Given the description of an element on the screen output the (x, y) to click on. 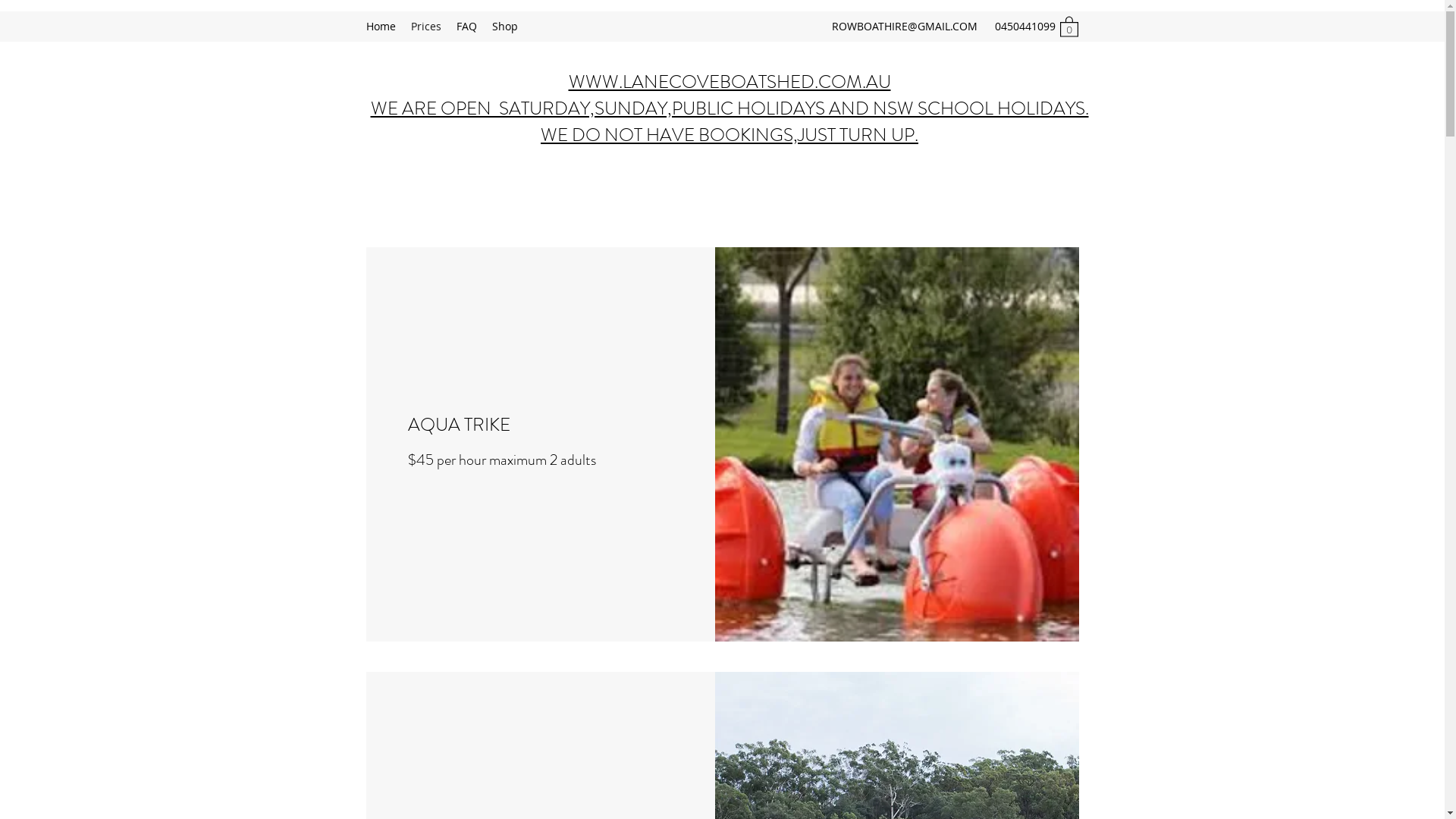
Shop Element type: text (503, 26)
FAQ Element type: text (466, 26)
Prices Element type: text (425, 26)
ROWBOATHIRE@GMAIL.COM Element type: text (904, 25)
Home Element type: text (379, 26)
WWW.LANECOVEBOATSHED.COM.AU Element type: text (729, 81)
0 Element type: text (1069, 26)
